Given the description of an element on the screen output the (x, y) to click on. 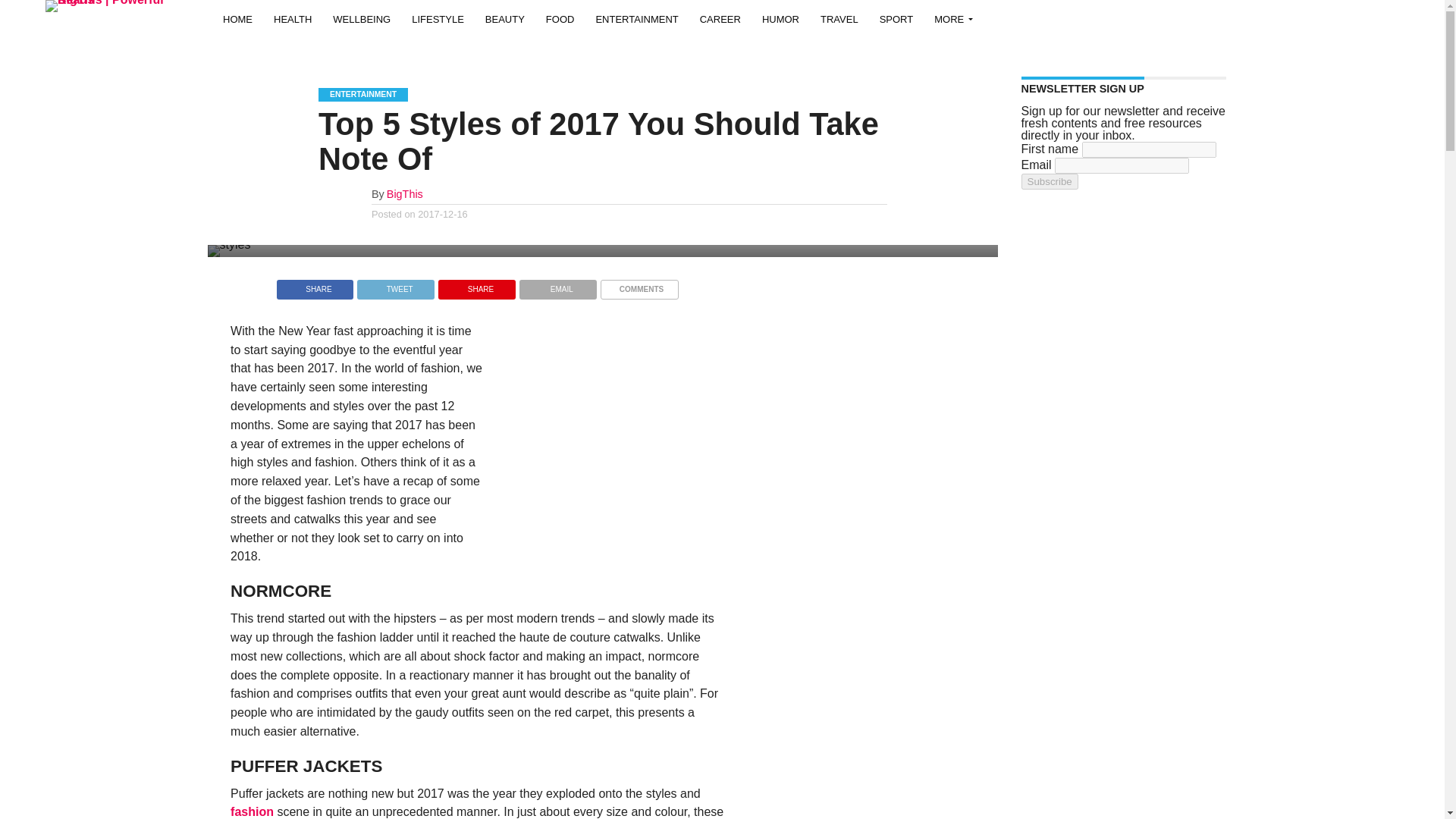
HEALTH (292, 18)
HOME (237, 18)
ENTERTAINMENT (636, 18)
BEAUTY (504, 18)
BigThis (405, 193)
SHARE (314, 285)
Posts by BigThis (405, 193)
LIFESTYLE (437, 18)
CAREER (719, 18)
SPORT (896, 18)
HUMOR (780, 18)
TWEET (394, 285)
Share on Facebook (314, 285)
MORE (949, 18)
COMMENTS (638, 285)
